Given the description of an element on the screen output the (x, y) to click on. 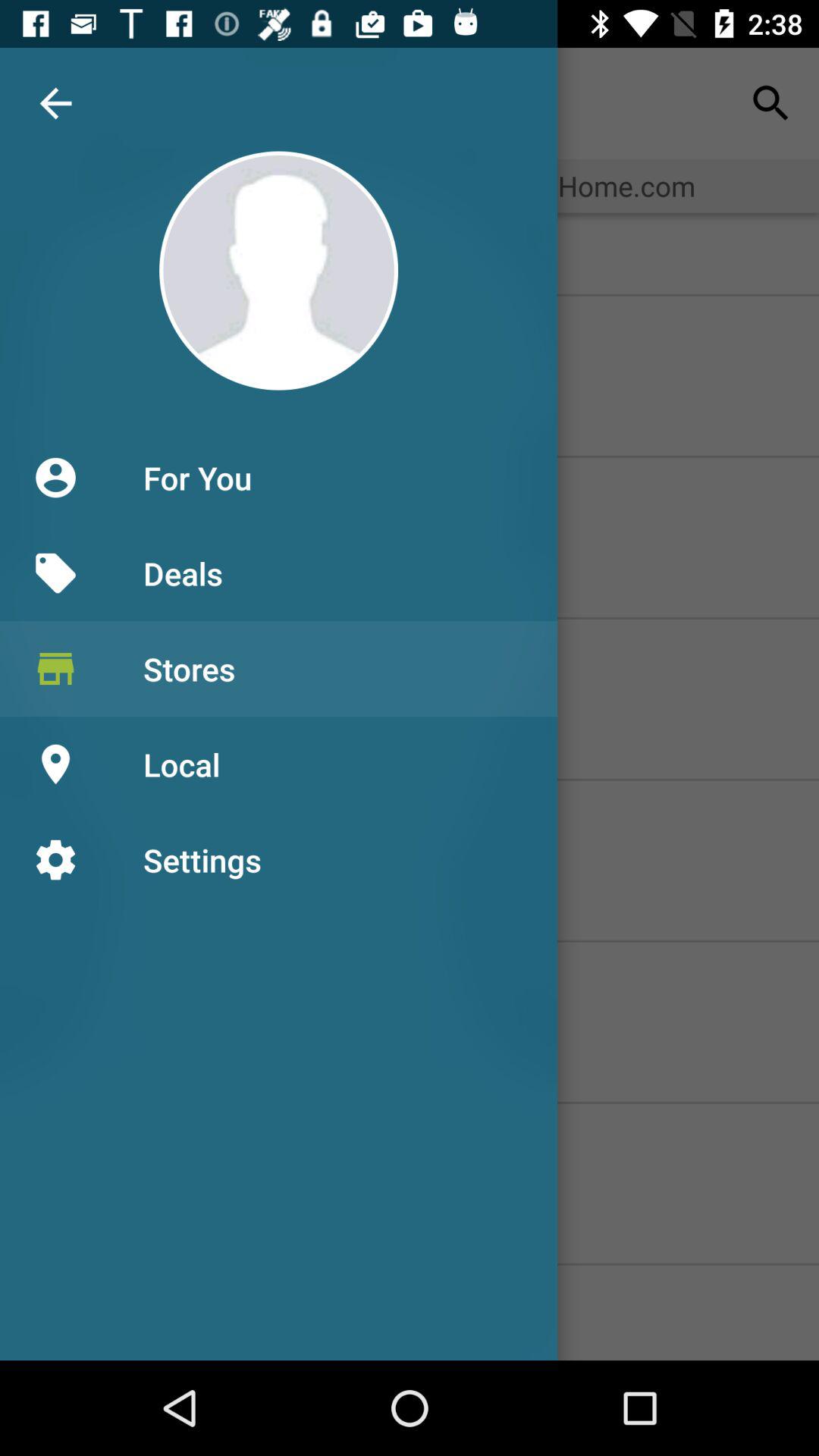
select the profile image (278, 270)
click back arrow icon in left top corner (56, 103)
